Given the description of an element on the screen output the (x, y) to click on. 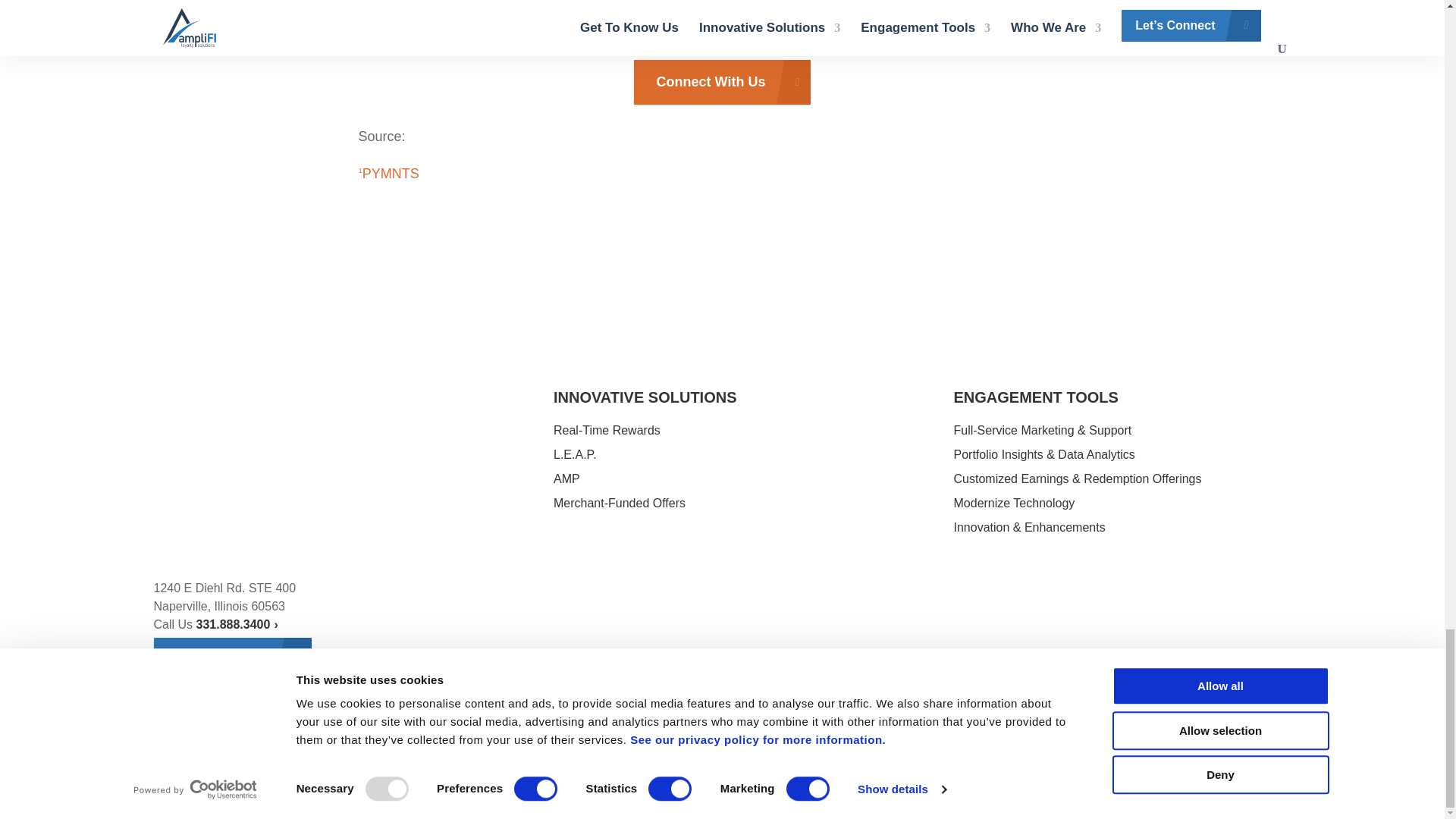
Call AmpliFI (237, 624)
